Given the description of an element on the screen output the (x, y) to click on. 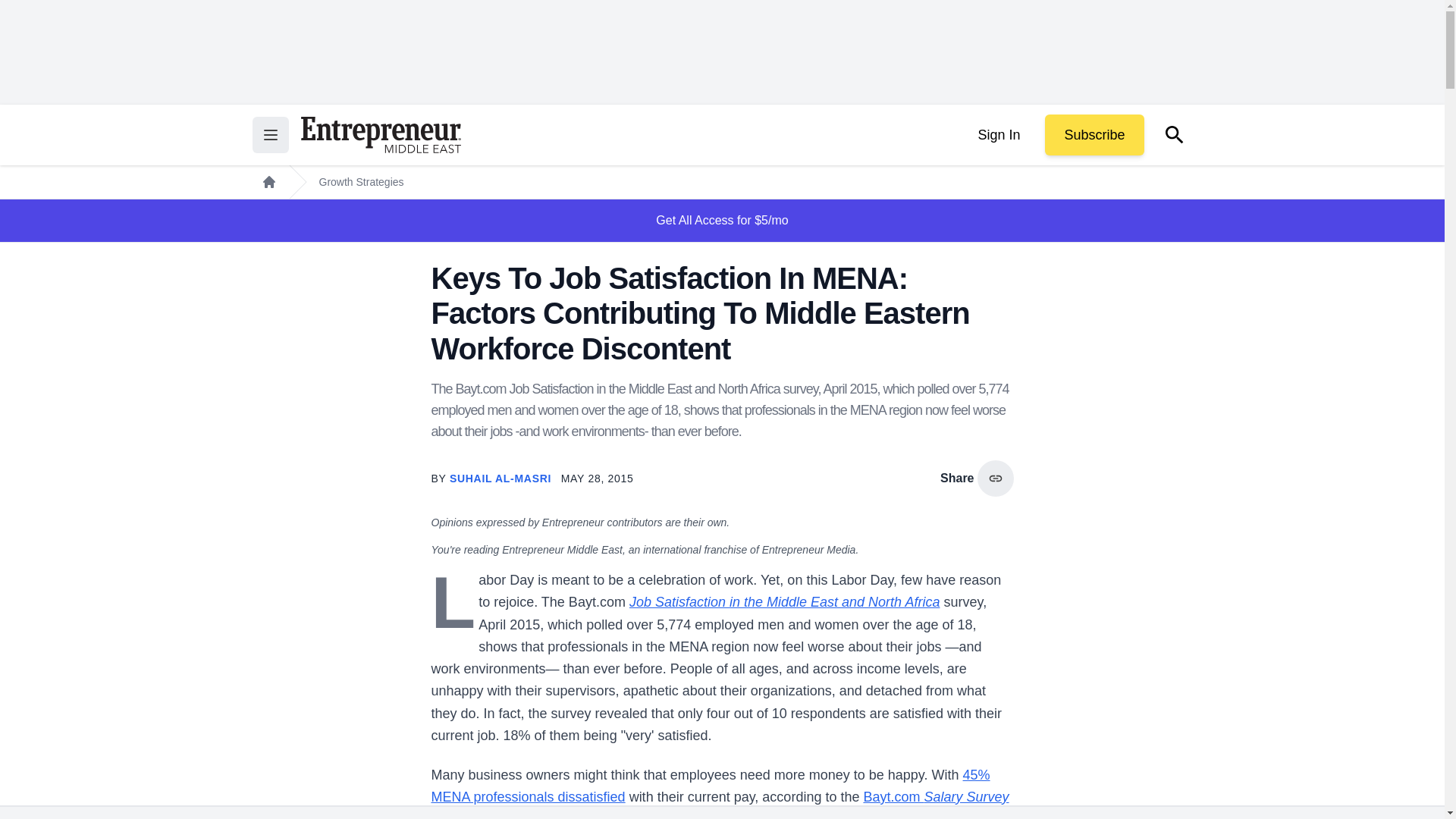
copy (994, 478)
Subscribe (1093, 134)
Sign In (998, 134)
Return to the home page (380, 135)
